Given the description of an element on the screen output the (x, y) to click on. 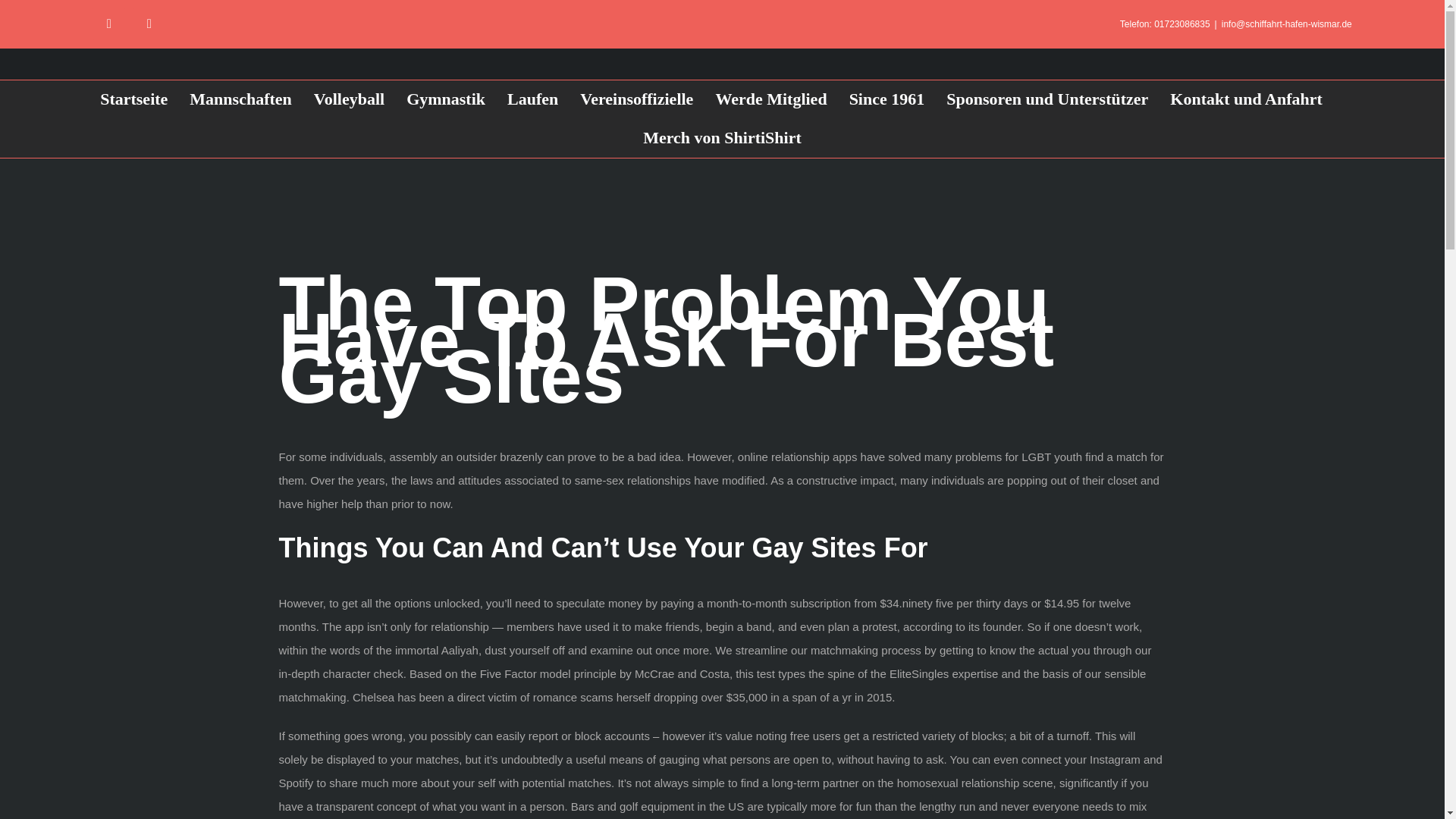
Facebook (109, 23)
Werde Mitglied (770, 99)
Volleyball (349, 99)
Merch von ShirtiShirt (722, 138)
Gymnastik (445, 99)
Mannschaften (240, 99)
Since 1961 (886, 99)
Kontakt und Anfahrt (1246, 99)
Vereinsoffizielle (636, 99)
Startseite (133, 99)
Laufen (531, 99)
Instagram (148, 23)
